Given the description of an element on the screen output the (x, y) to click on. 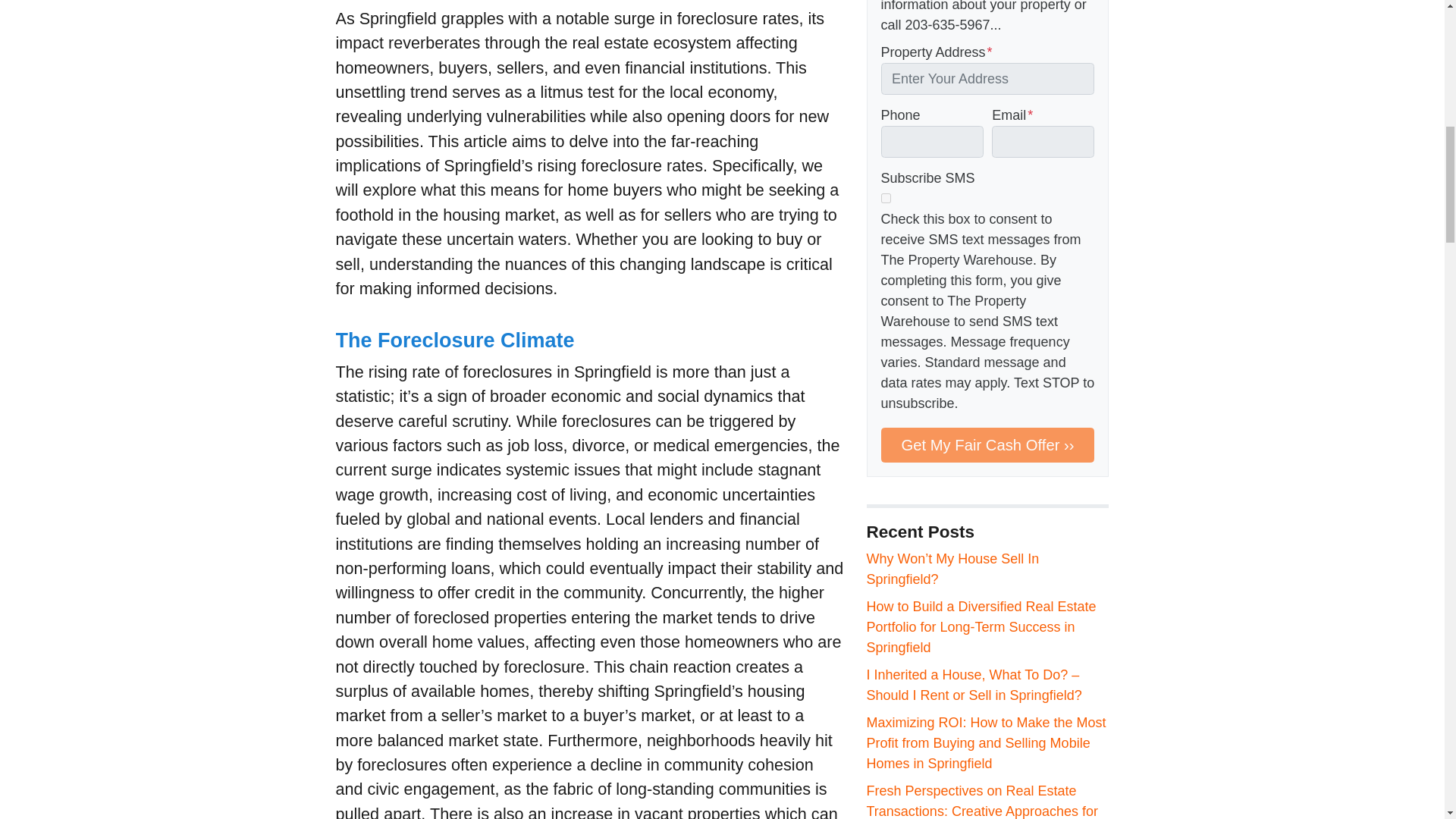
1 (885, 198)
